Given the description of an element on the screen output the (x, y) to click on. 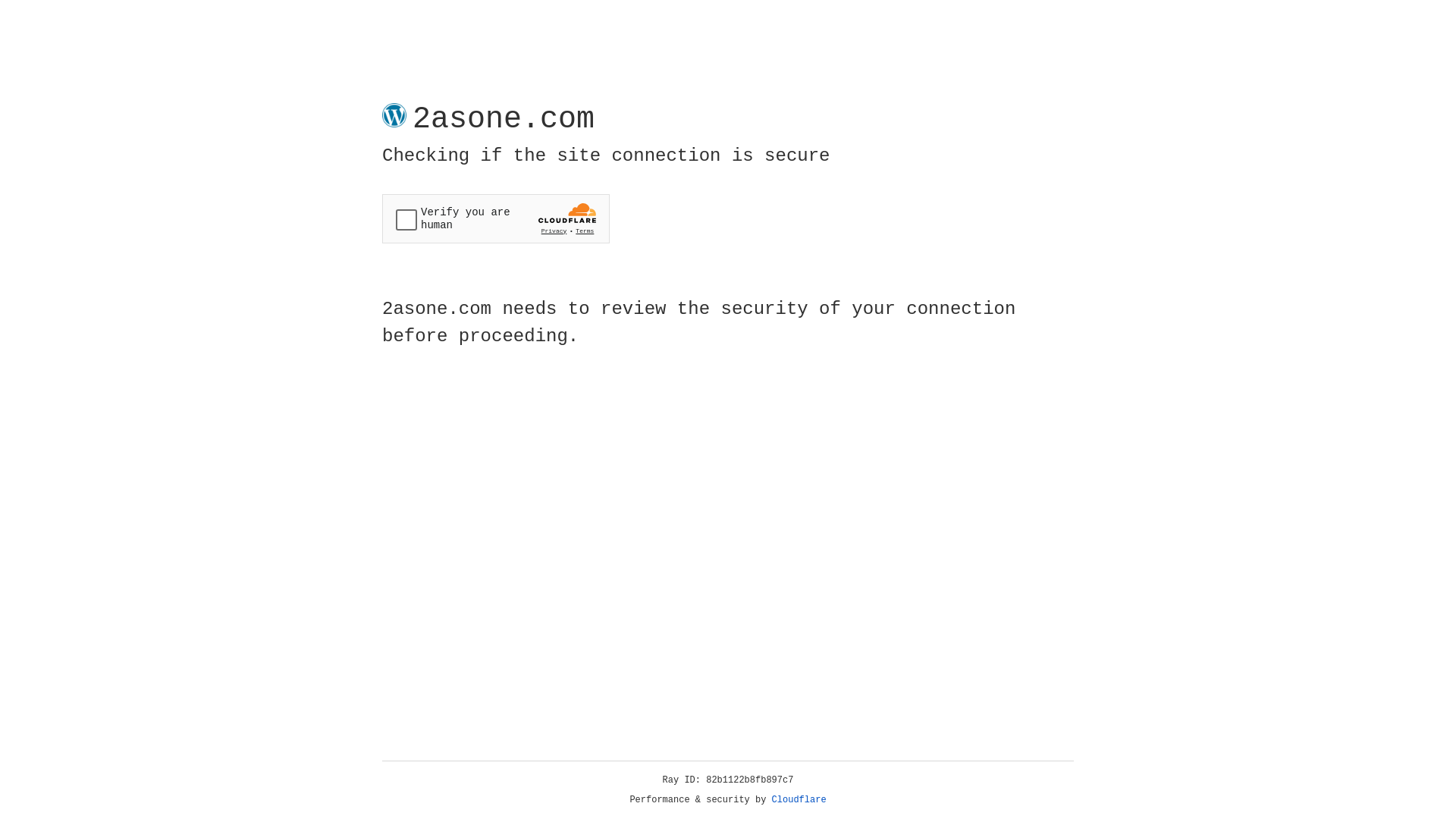
Widget containing a Cloudflare security challenge Element type: hover (495, 218)
Cloudflare Element type: text (798, 799)
